Given the description of an element on the screen output the (x, y) to click on. 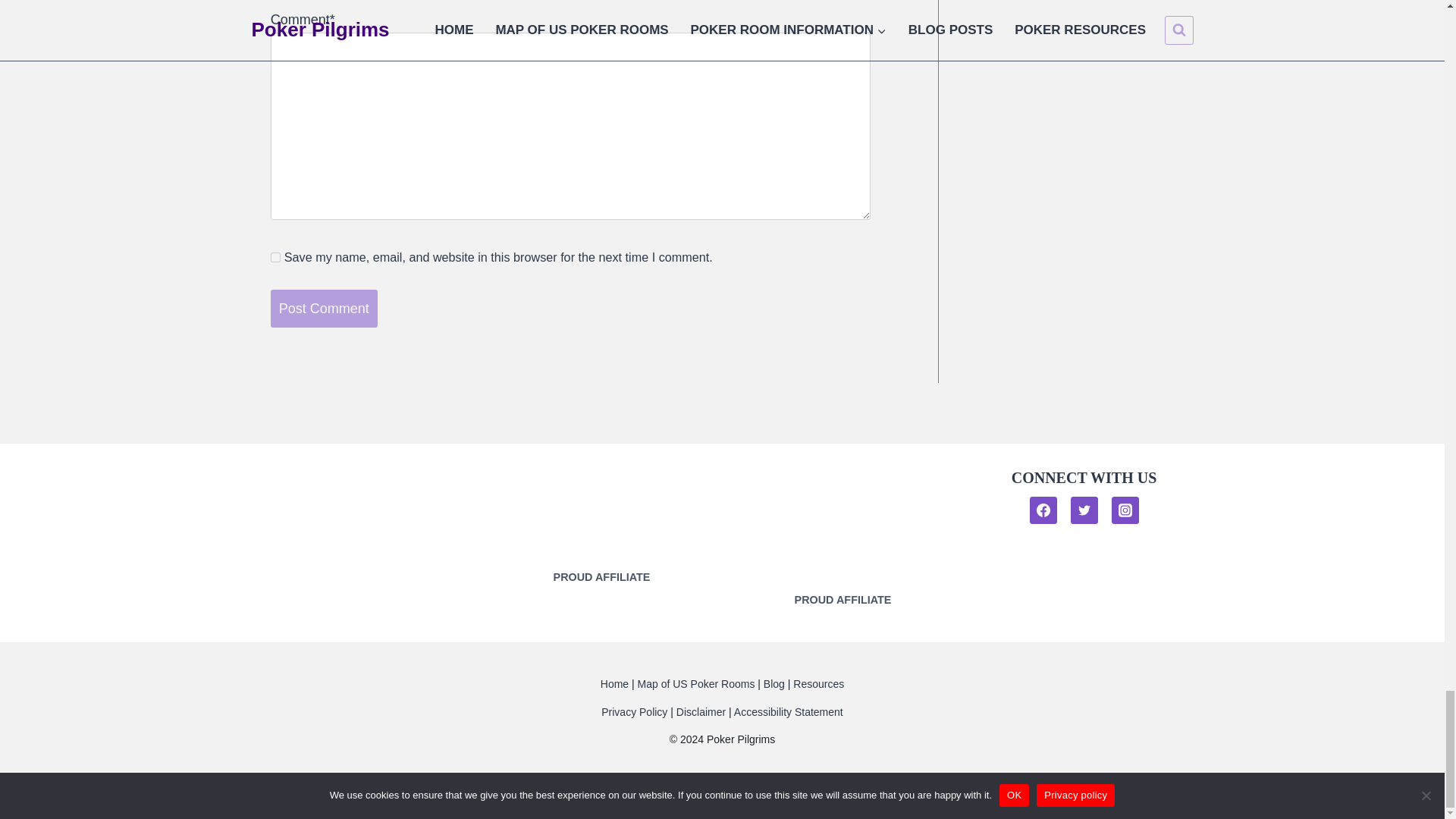
Post Comment (323, 308)
yes (275, 257)
